Given the description of an element on the screen output the (x, y) to click on. 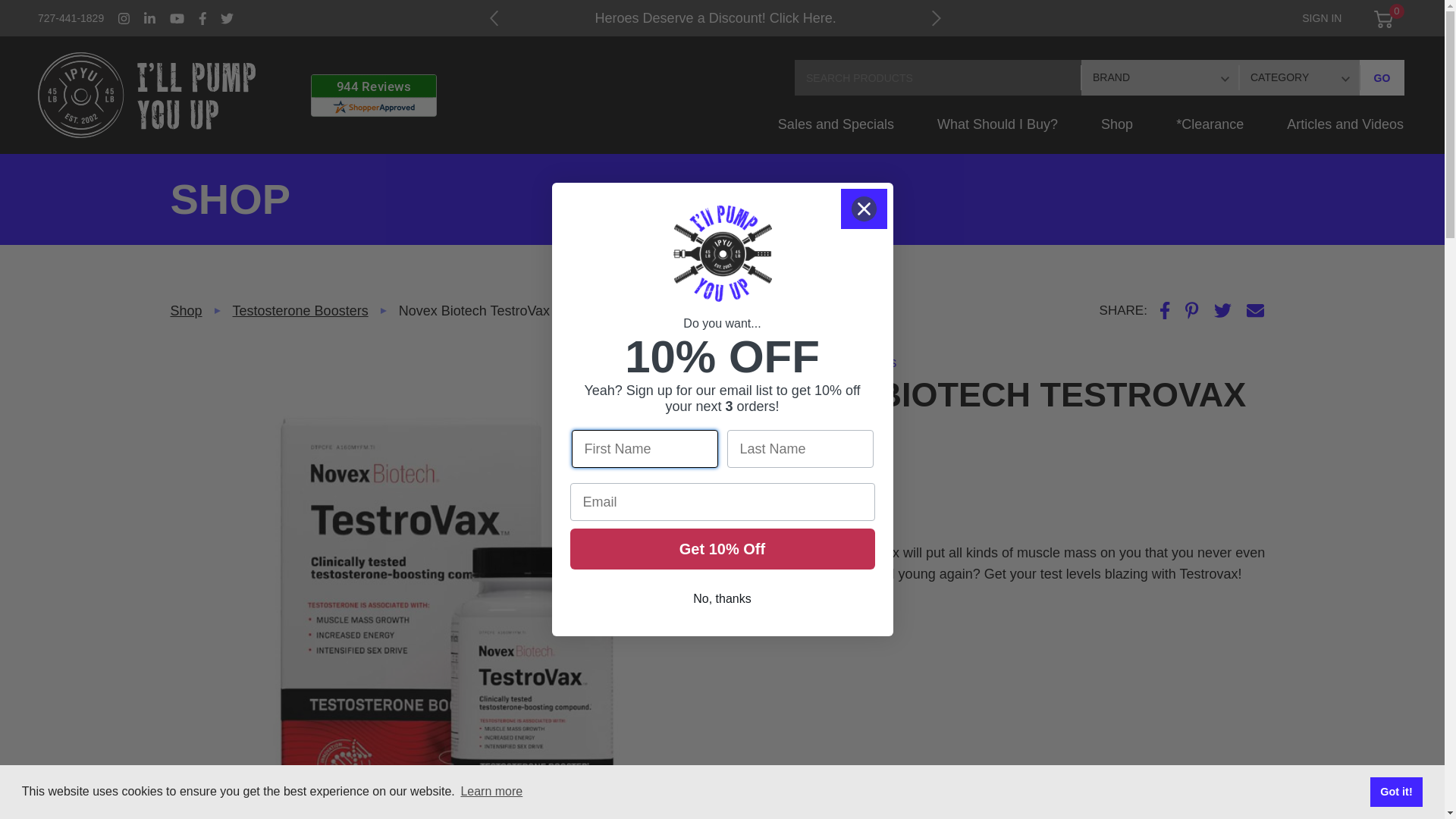
SIGN IN (1320, 18)
Learn more (491, 791)
Shop (1117, 133)
Close dialog 1 (863, 208)
GO (1382, 77)
Sales and Specials (836, 133)
Heroes Deserve a Discount! Click Here. (715, 17)
727-441-1829 (71, 18)
What Should I Buy? (997, 133)
GO (1382, 77)
Got it! (1396, 791)
